Given the description of an element on the screen output the (x, y) to click on. 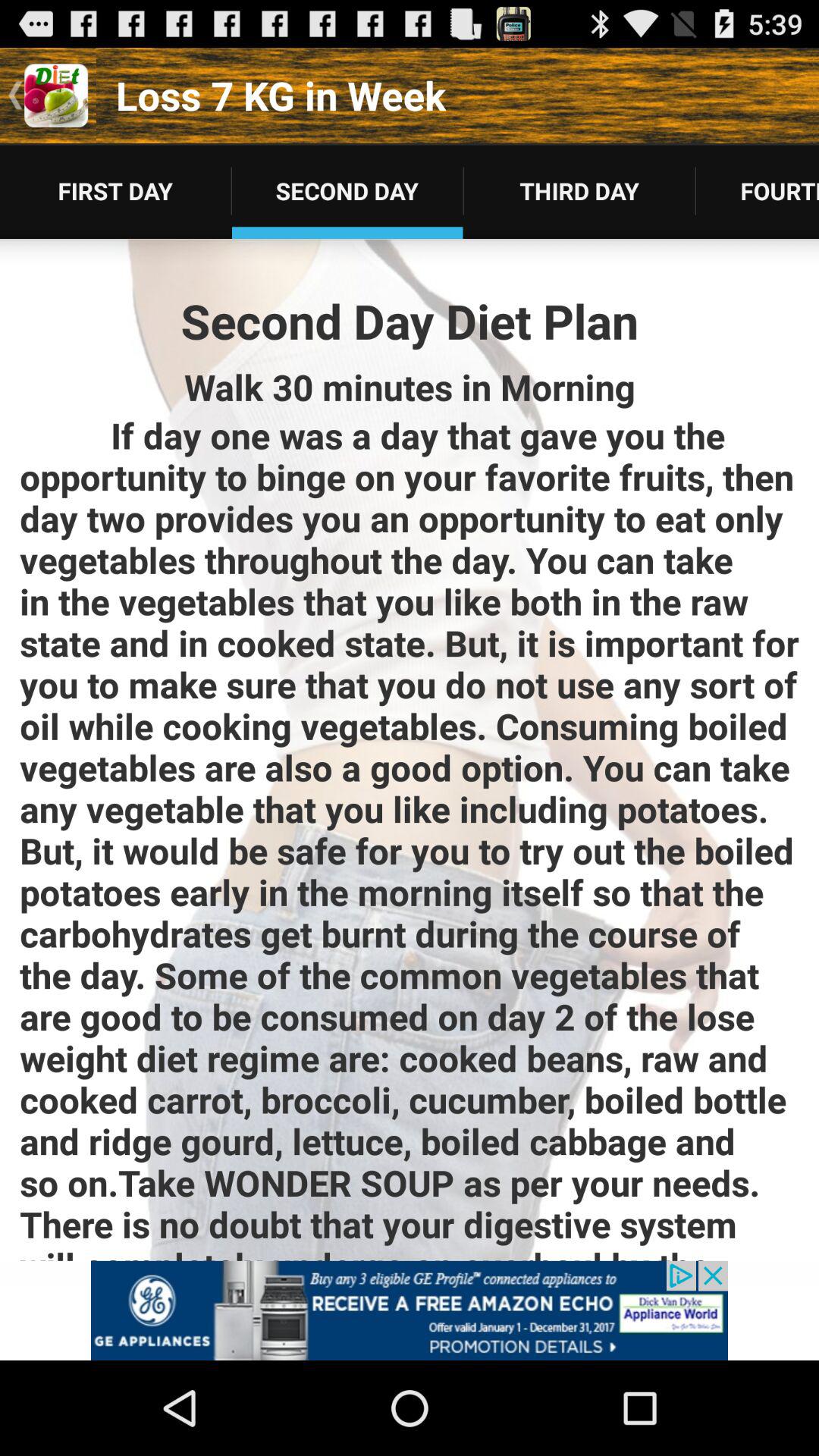
interact with advertisement (409, 1310)
